Given the description of an element on the screen output the (x, y) to click on. 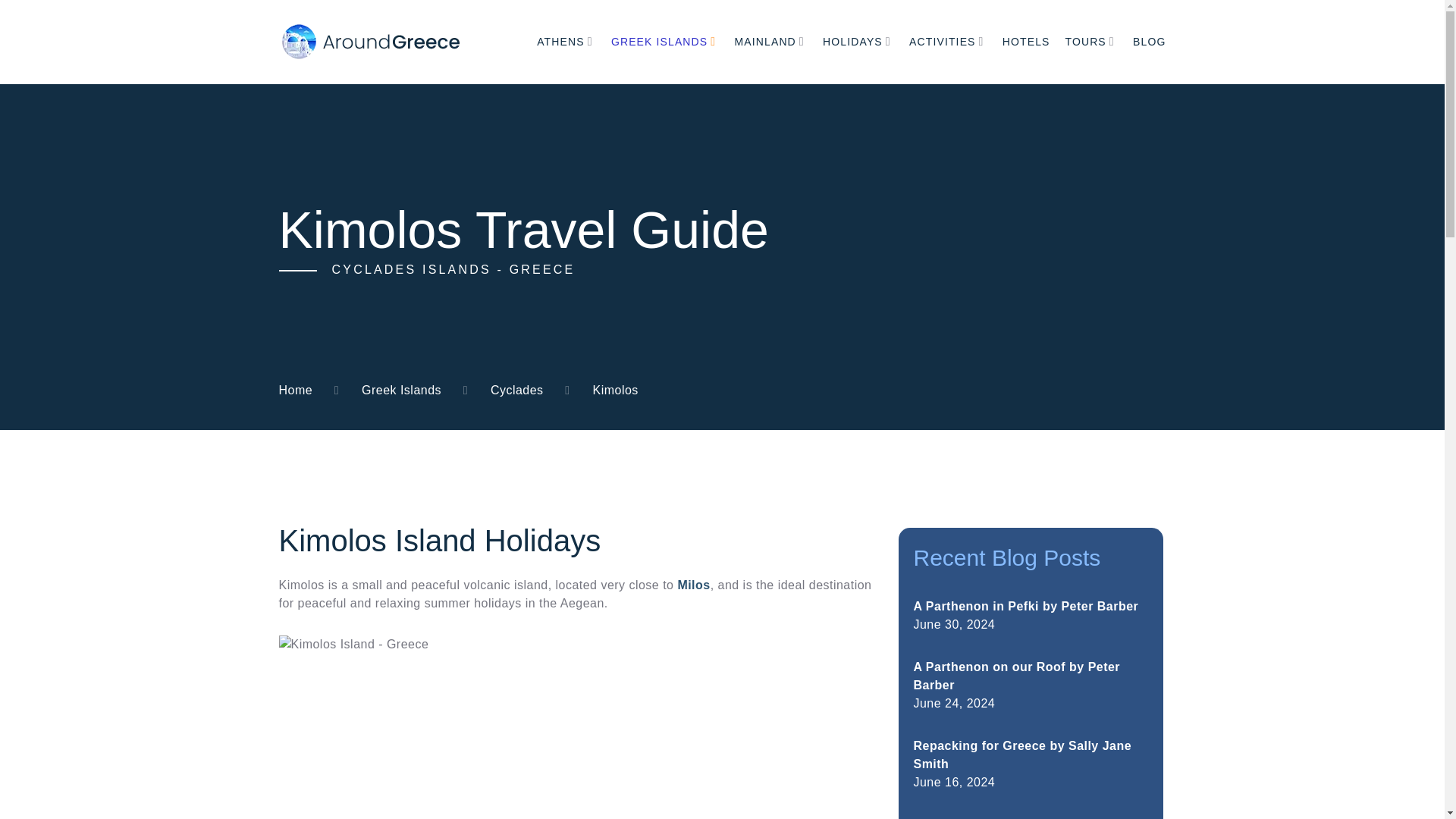
ATHENS (560, 41)
GREEK ISLANDS (659, 41)
